Given the description of an element on the screen output the (x, y) to click on. 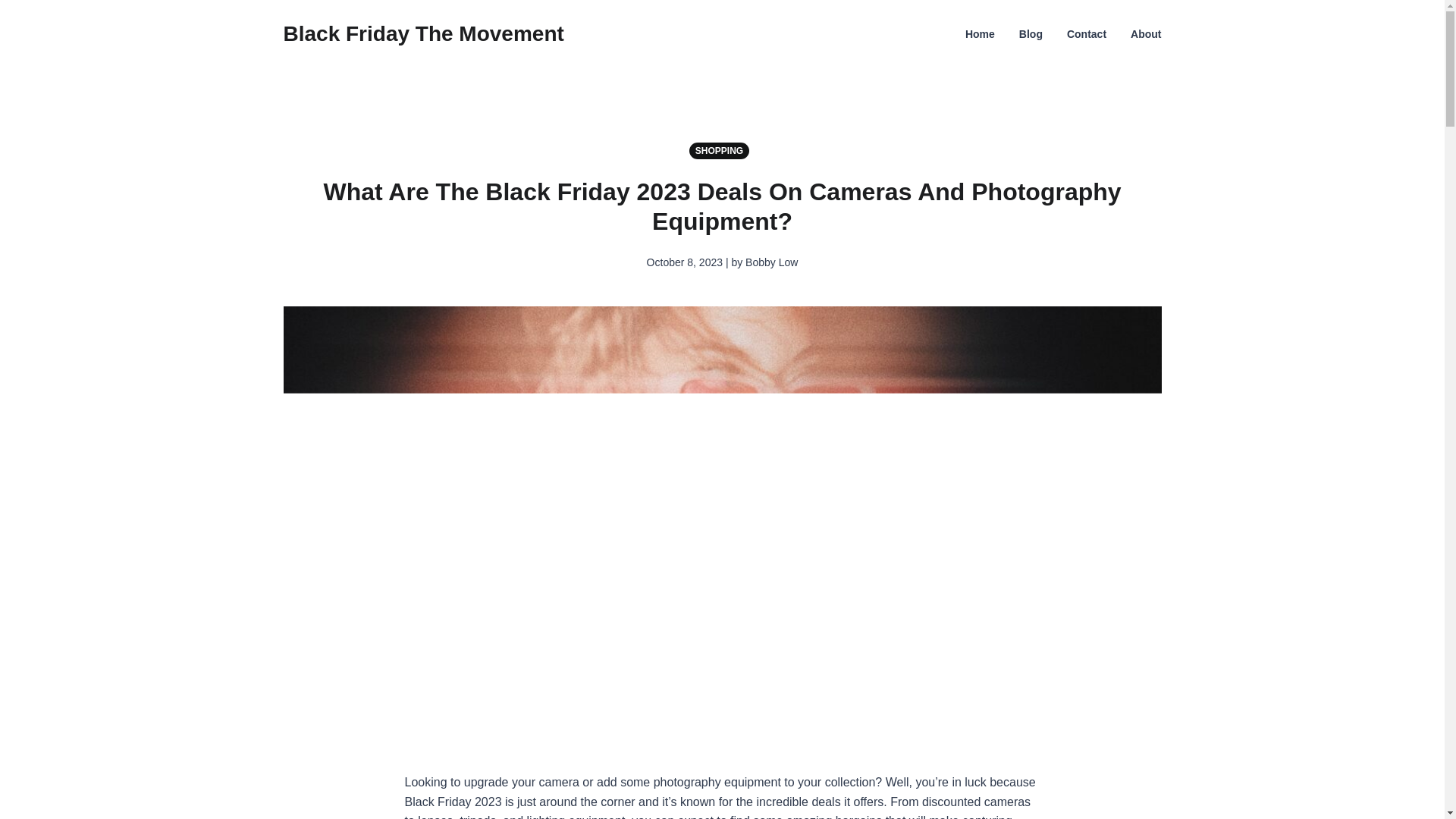
Blog (1030, 33)
Black Friday 2023 (453, 801)
Home (979, 33)
Contact (1086, 33)
Black Friday The Movement (423, 33)
About (1145, 33)
SHOPPING (721, 150)
